Given the description of an element on the screen output the (x, y) to click on. 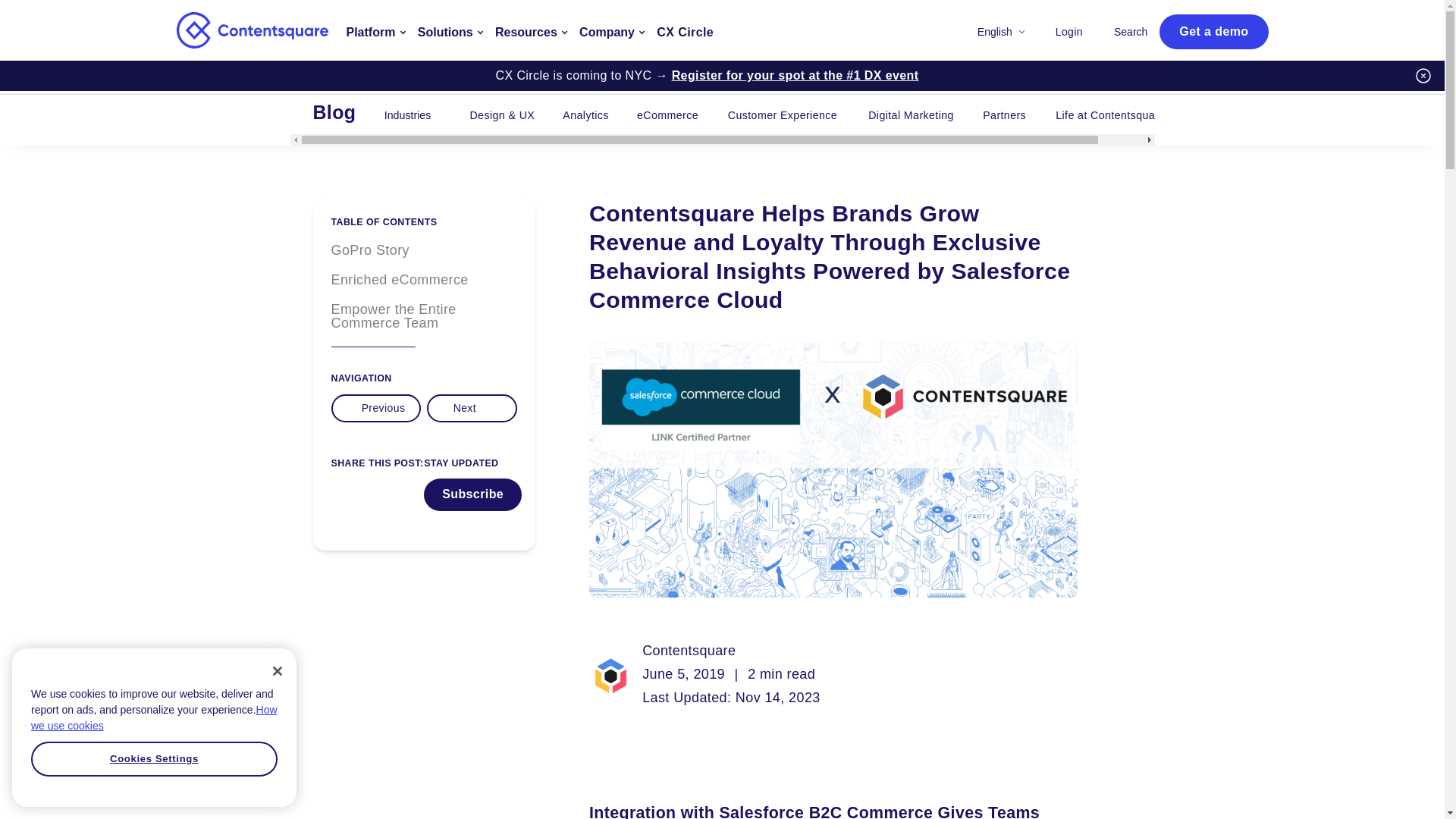
eCommerce (667, 115)
Industries (414, 115)
Solutions (450, 30)
Contentsquare - back to home page (251, 30)
Analytics (585, 115)
Platform (374, 30)
